Given the description of an element on the screen output the (x, y) to click on. 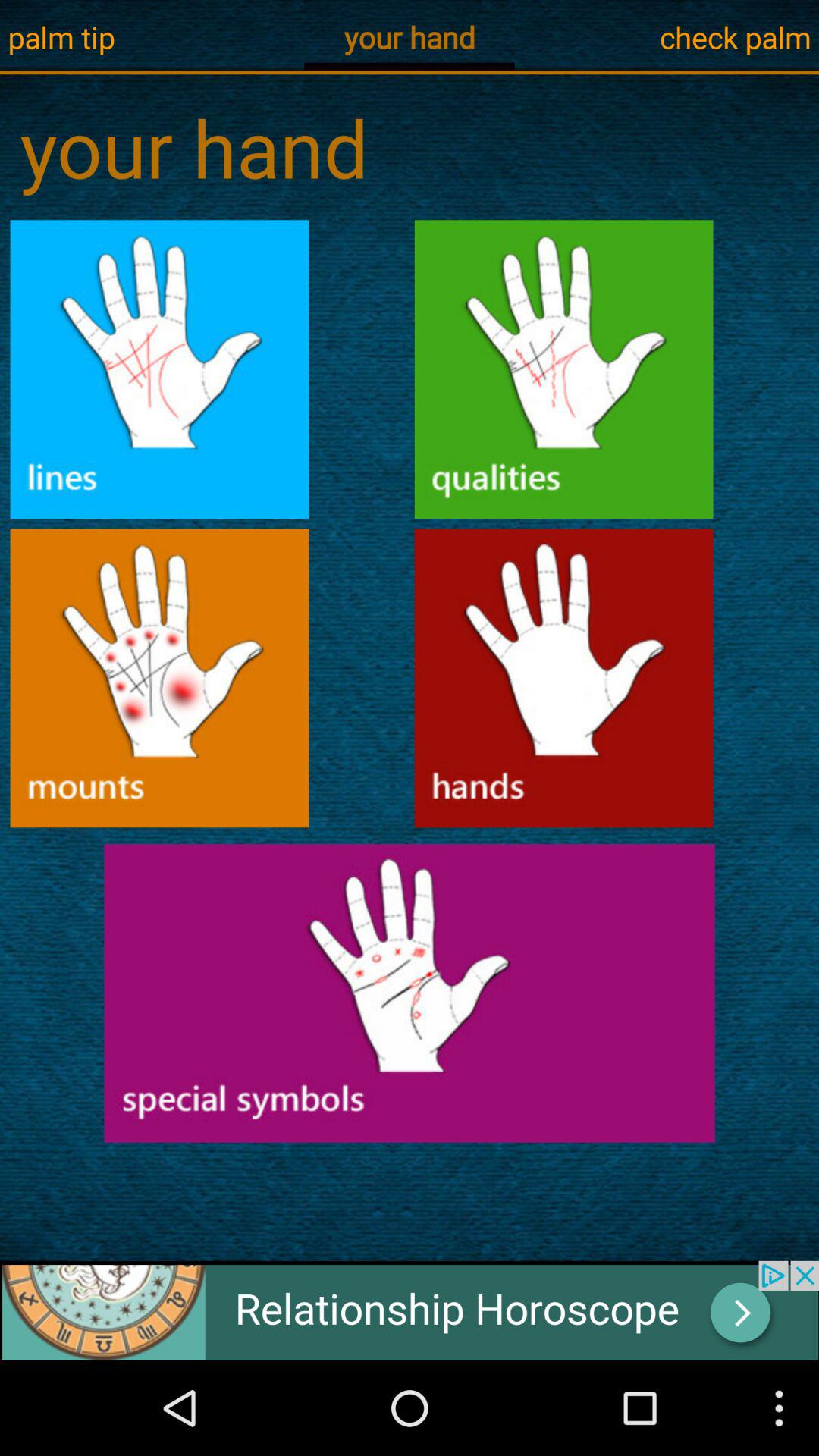
open qualities feature (563, 369)
